Given the description of an element on the screen output the (x, y) to click on. 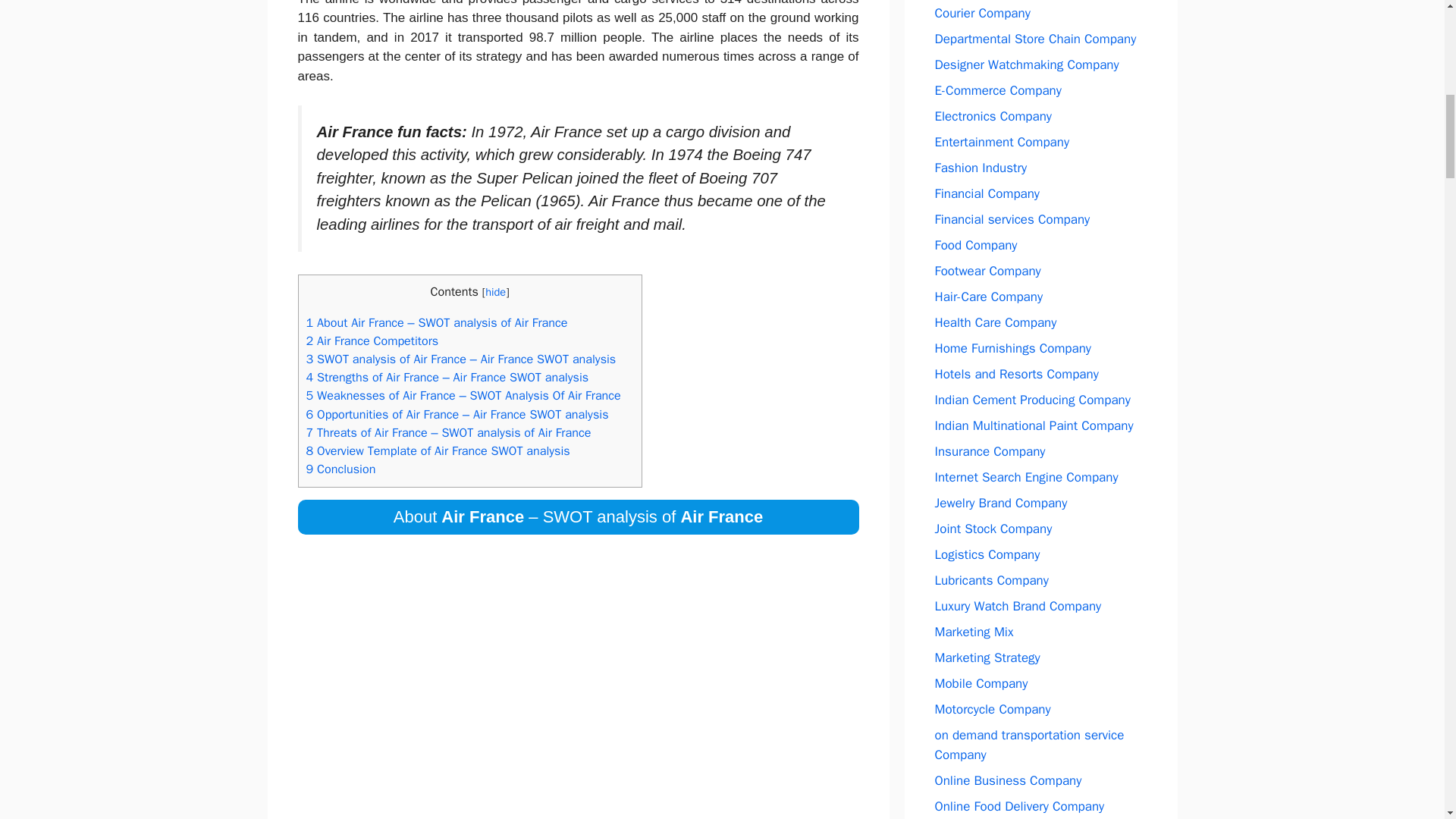
8 Overview Template of Air France SWOT analysis (437, 450)
2 Air France Competitors (372, 340)
9 Conclusion (340, 468)
hide (494, 291)
